Given the description of an element on the screen output the (x, y) to click on. 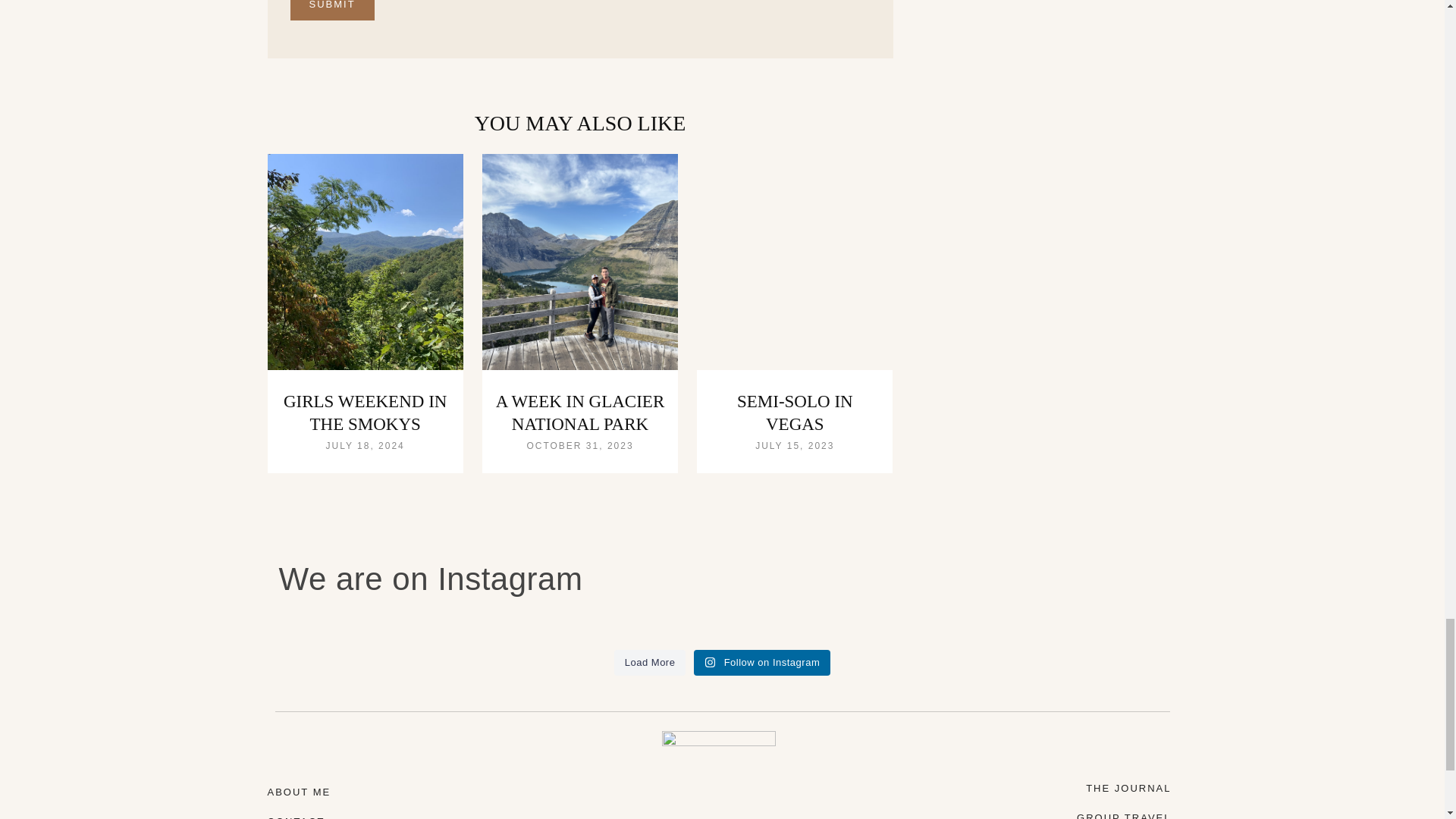
Submit (331, 10)
A WEEK IN GLACIER NATIONAL PARK (580, 413)
GIRLS WEEKEND IN THE SMOKYS (364, 413)
SEMI-SOLO IN VEGAS (794, 413)
Submit (331, 10)
